Given the description of an element on the screen output the (x, y) to click on. 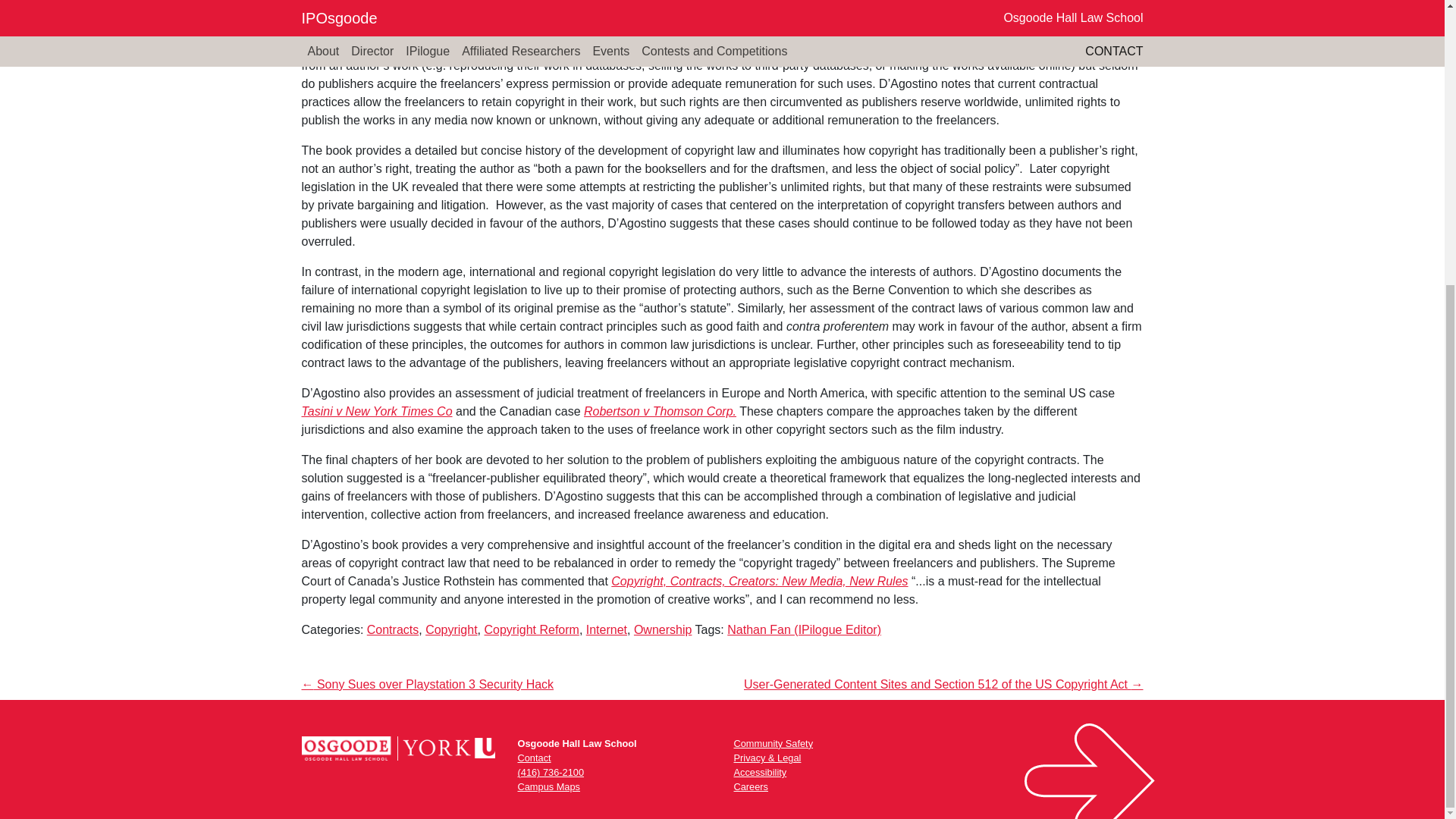
Copyright, Contracts, Creators: New Media, New Rules (759, 581)
Contact (533, 757)
Contracts (392, 629)
Accessibility (760, 772)
Robertson v Thomson Corp. (659, 410)
Copyright (451, 629)
Internet (606, 629)
Ownership (662, 629)
Copyright Reform (530, 629)
Careers (750, 786)
